Given the description of an element on the screen output the (x, y) to click on. 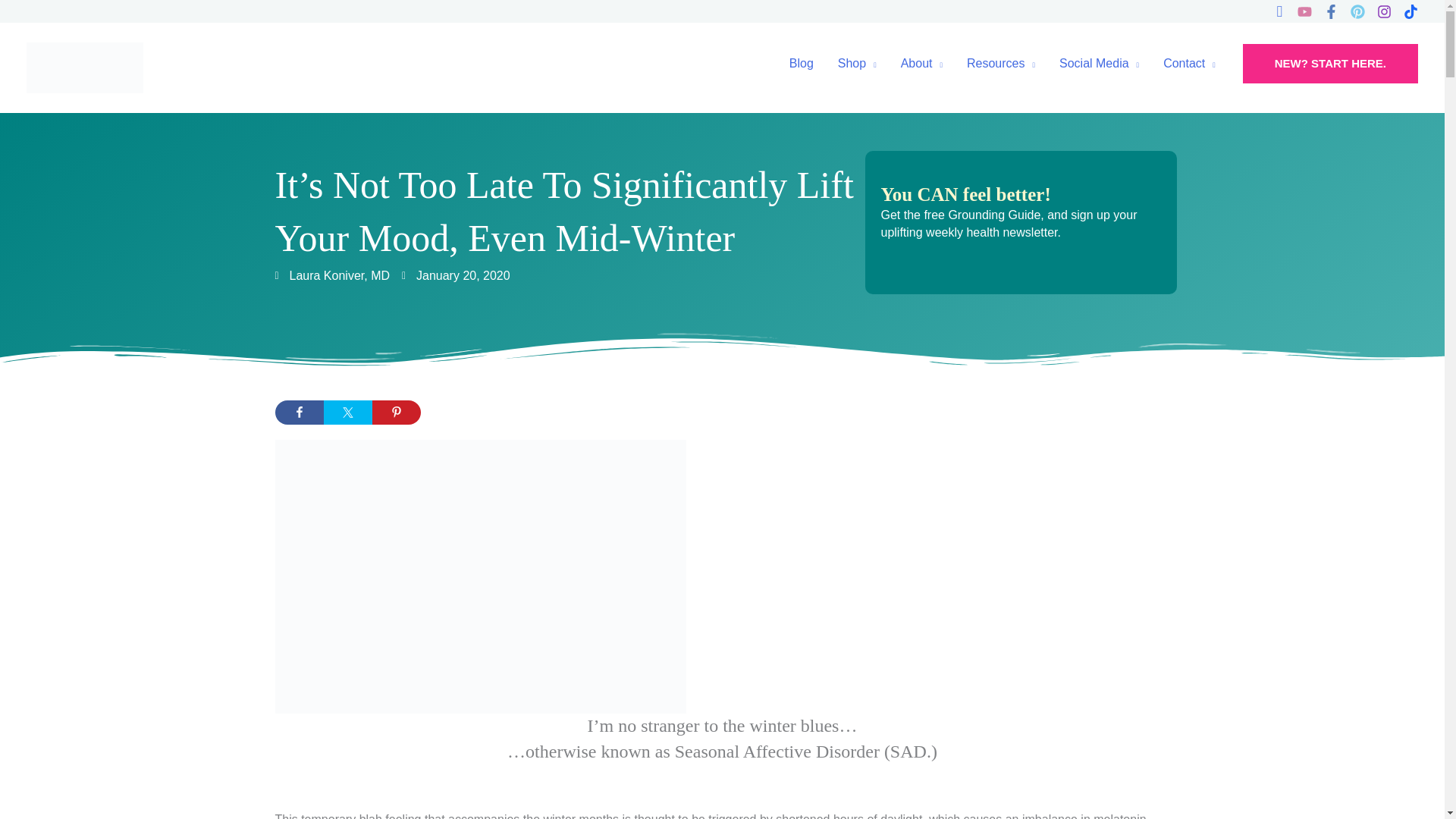
Home (1000, 63)
About (921, 63)
Share on Facebook (299, 412)
Resources (1000, 63)
Social Media (1098, 63)
Shop (856, 63)
Blog (801, 63)
Share on Twitter (347, 412)
Share on Pinterest (395, 412)
